Given the description of an element on the screen output the (x, y) to click on. 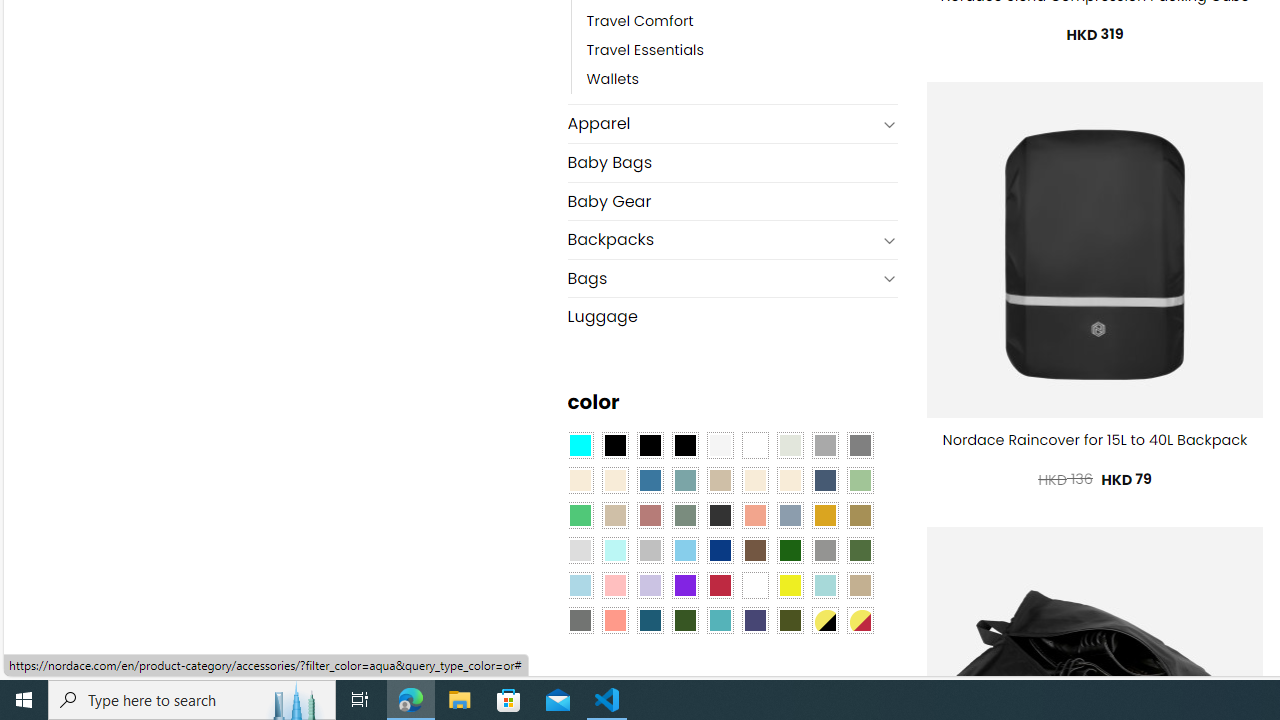
Travel Comfort (742, 21)
Green (859, 550)
Emerald Green (579, 514)
Yellow (789, 584)
Clear (755, 444)
Kelp (859, 514)
Luggage (732, 317)
Red (719, 584)
Travel Comfort (639, 21)
Aqua Blue (579, 444)
Bags (721, 278)
Wallets (613, 79)
Khaki (859, 584)
